Given the description of an element on the screen output the (x, y) to click on. 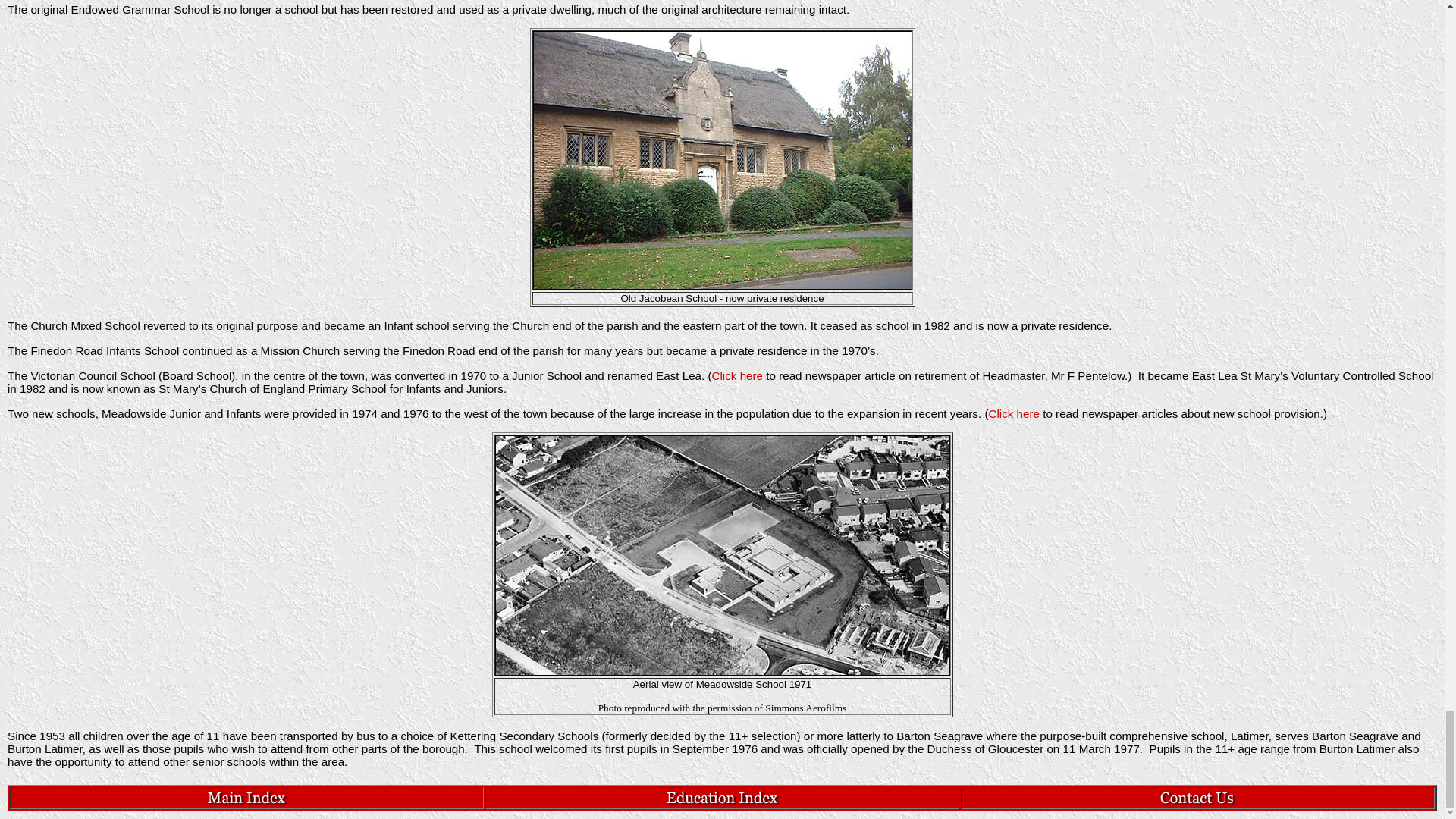
E-mail us (1197, 803)
Click here (736, 375)
Click here (1013, 413)
